Given the description of an element on the screen output the (x, y) to click on. 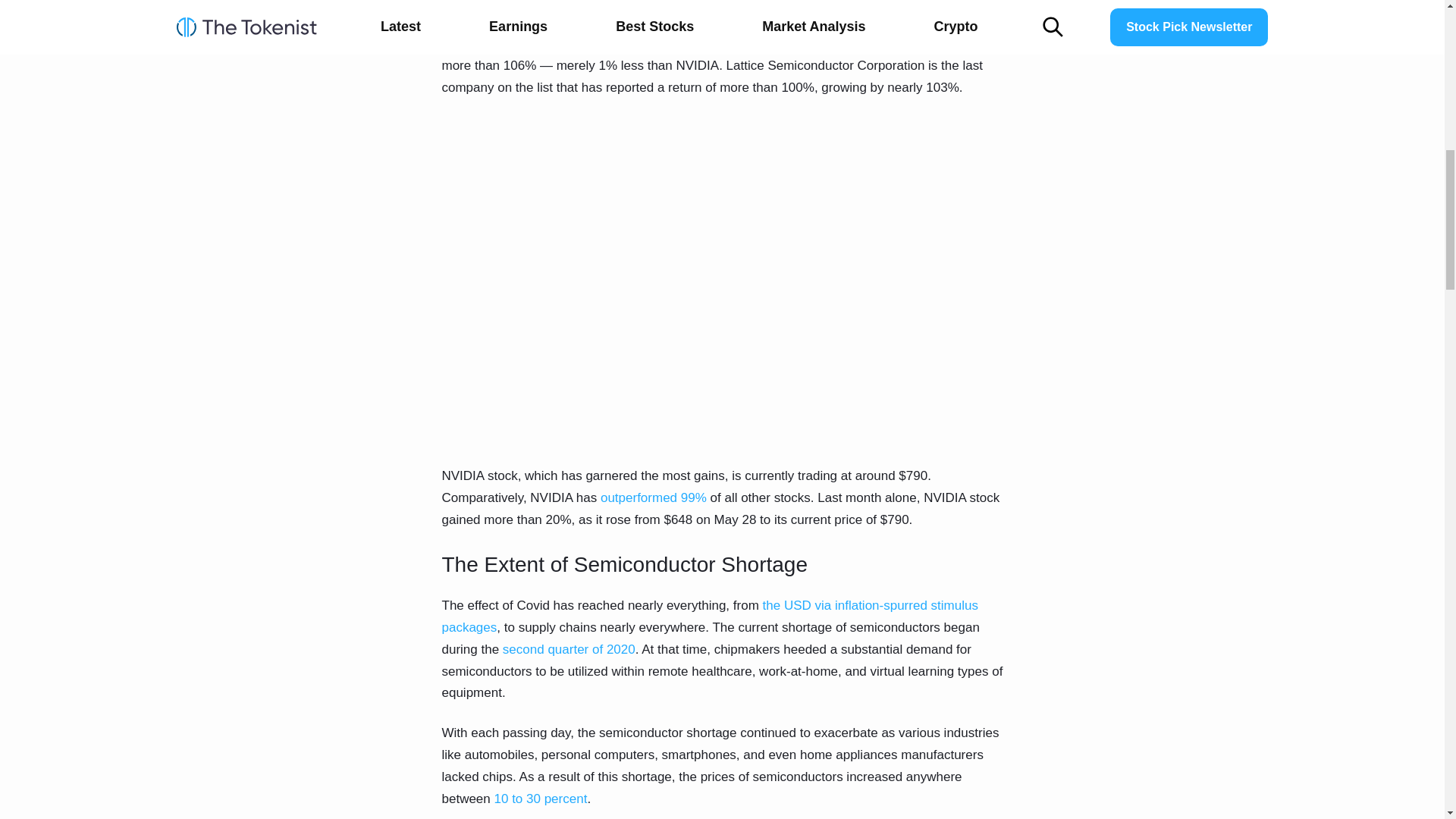
the USD via inflation-spurred stimulus packages (708, 616)
10 to 30 percent (541, 798)
second quarter of 2020 (566, 649)
